Given the description of an element on the screen output the (x, y) to click on. 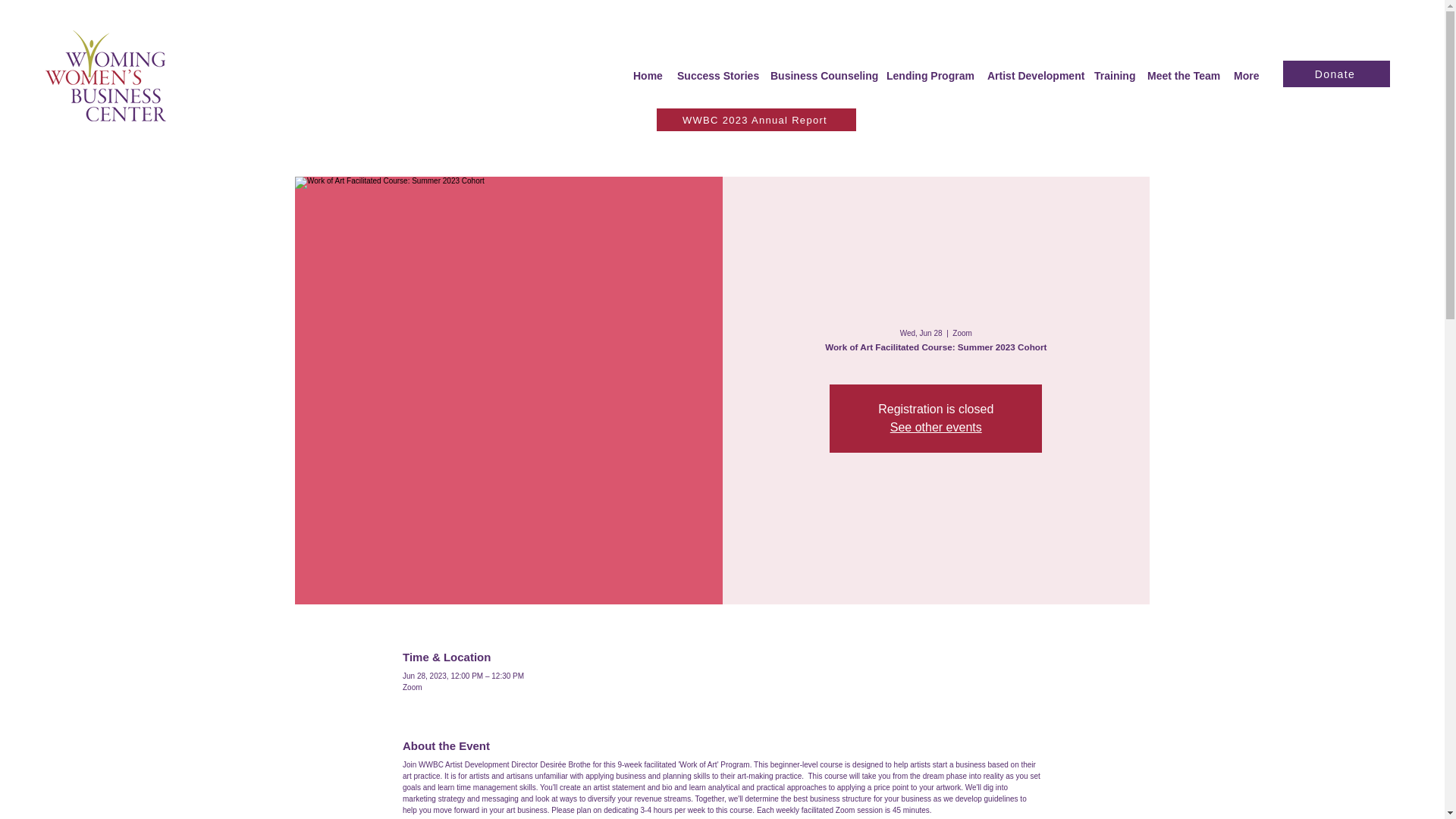
Business Counseling (820, 75)
Home (647, 75)
Success Stories (715, 75)
Lending Program (929, 75)
Donate (1336, 73)
Artist Development (1032, 75)
See other events (935, 427)
Meet the Team (1182, 75)
Training (1113, 75)
WWBC 2023 Annual Report (756, 119)
